Given the description of an element on the screen output the (x, y) to click on. 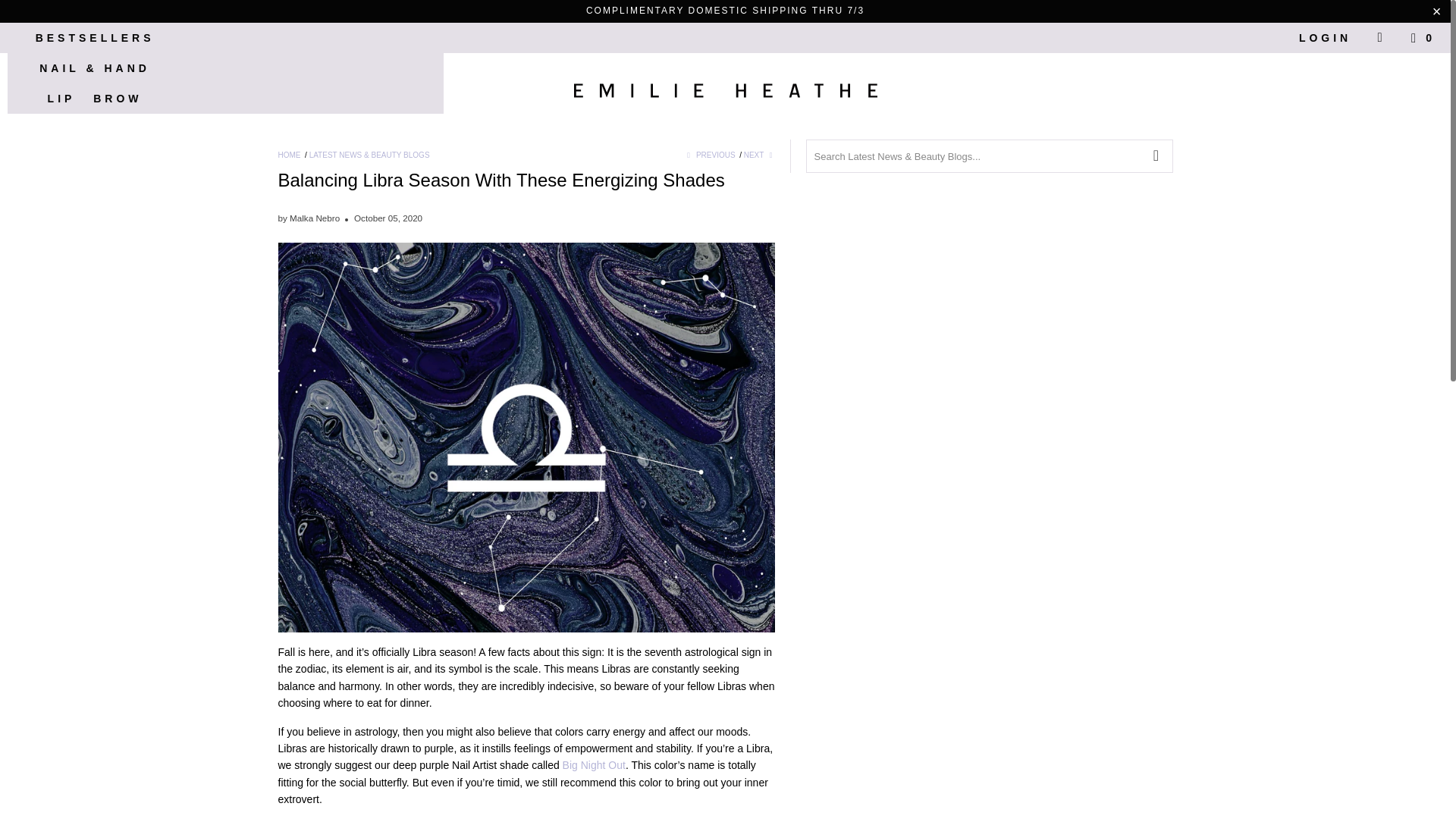
My Account  (1313, 37)
Big Night Out (594, 765)
Emilie Heathe (724, 92)
BESTSELLERS (94, 37)
BROW (117, 98)
Emilie Heathe (288, 154)
Search (1381, 37)
LIP (61, 98)
